Given the description of an element on the screen output the (x, y) to click on. 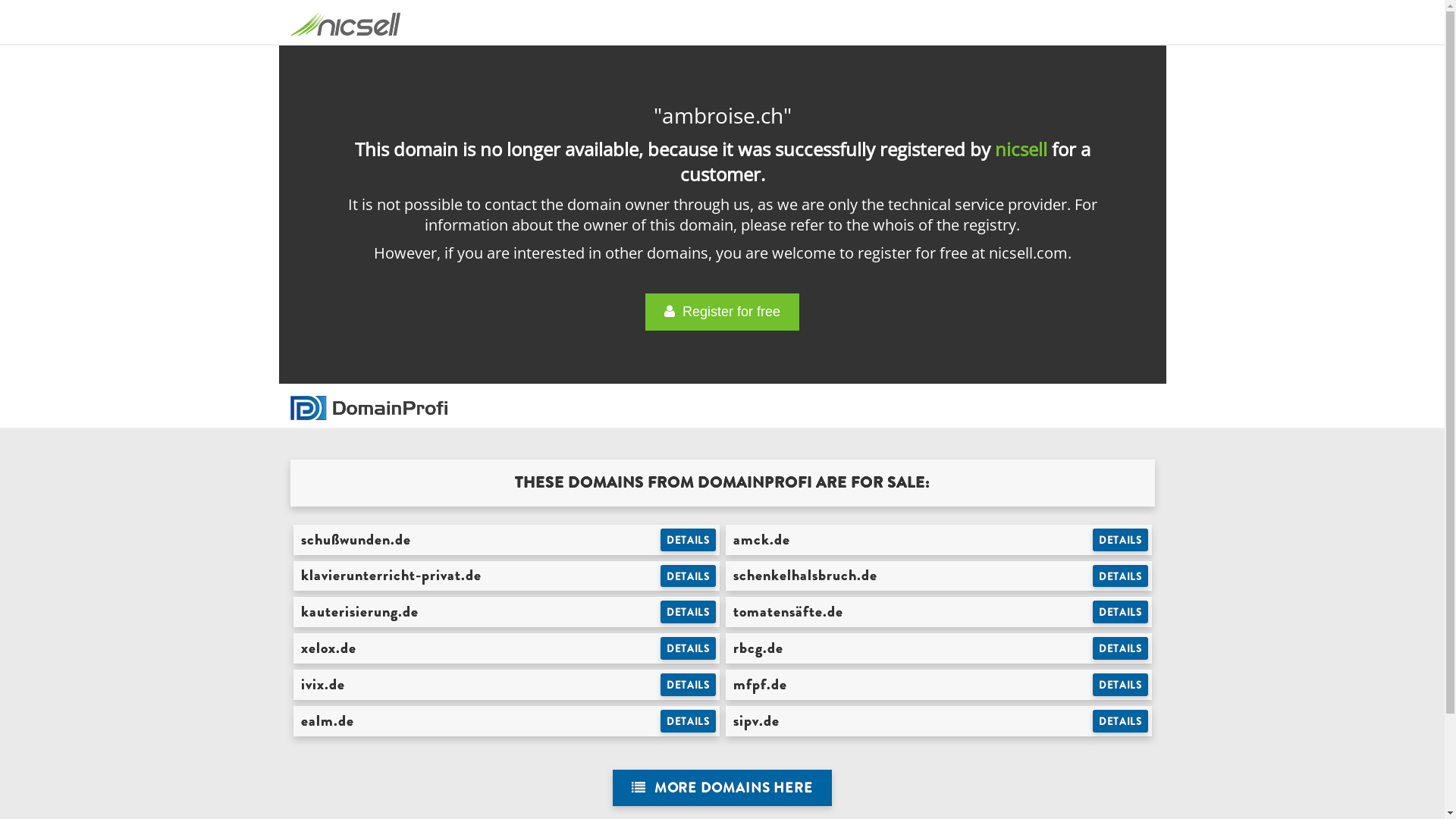
nicsell Element type: text (1020, 148)
  Register for free Element type: text (722, 311)
DETAILS Element type: text (1120, 539)
DETAILS Element type: text (1120, 684)
DETAILS Element type: text (687, 684)
DETAILS Element type: text (1120, 611)
DETAILS Element type: text (687, 575)
  MORE DOMAINS HERE Element type: text (721, 787)
DETAILS Element type: text (687, 611)
DETAILS Element type: text (1120, 720)
DETAILS Element type: text (1120, 575)
DETAILS Element type: text (687, 539)
DETAILS Element type: text (687, 720)
DETAILS Element type: text (1120, 648)
DETAILS Element type: text (687, 648)
